Given the description of an element on the screen output the (x, y) to click on. 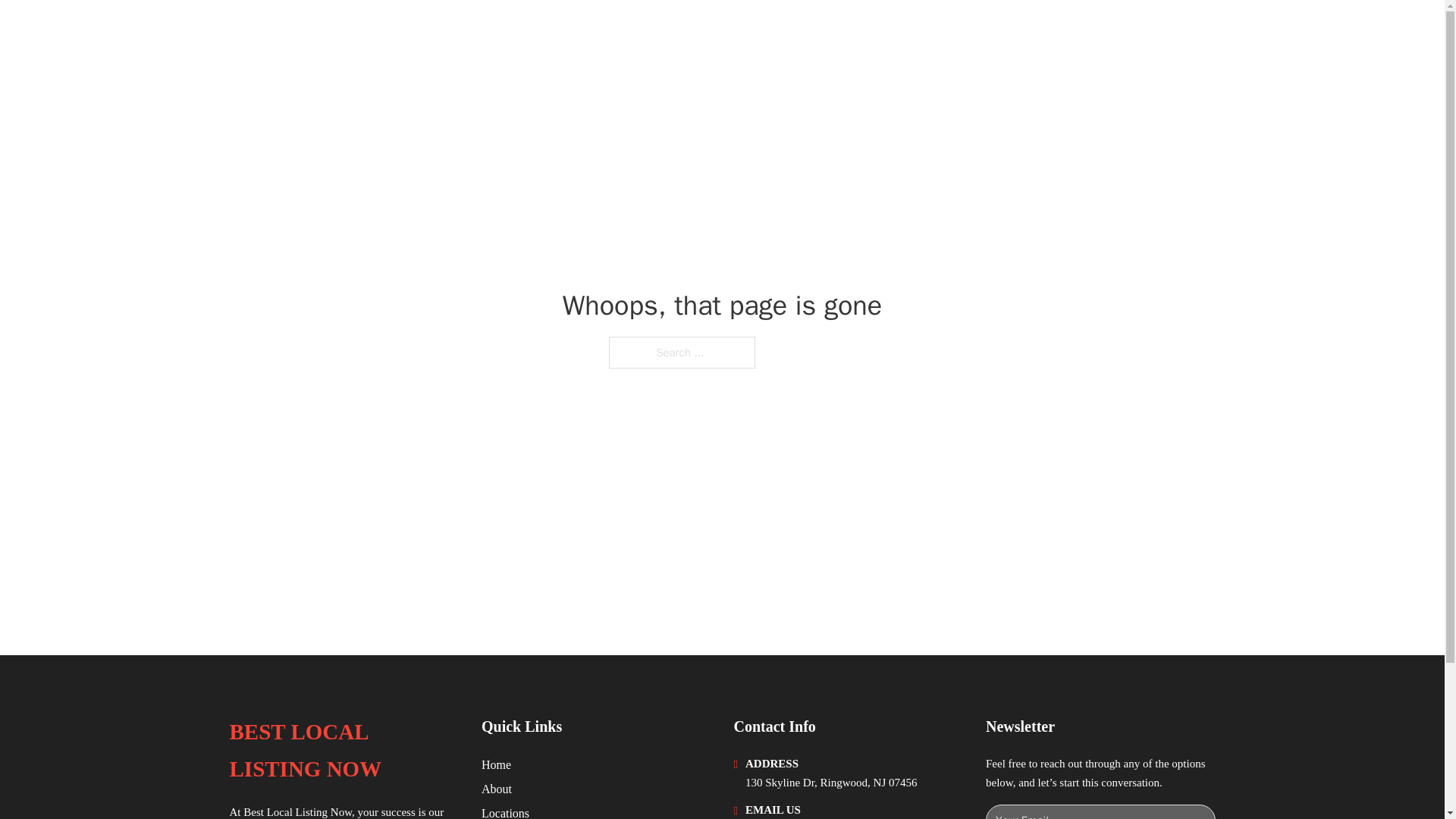
LOCATIONS (1098, 31)
BEST LOCAL LISTING NOW (392, 31)
HOME (1025, 31)
Locations (505, 811)
Home (496, 764)
BEST LOCAL LISTING NOW (343, 750)
About (496, 788)
